Given the description of an element on the screen output the (x, y) to click on. 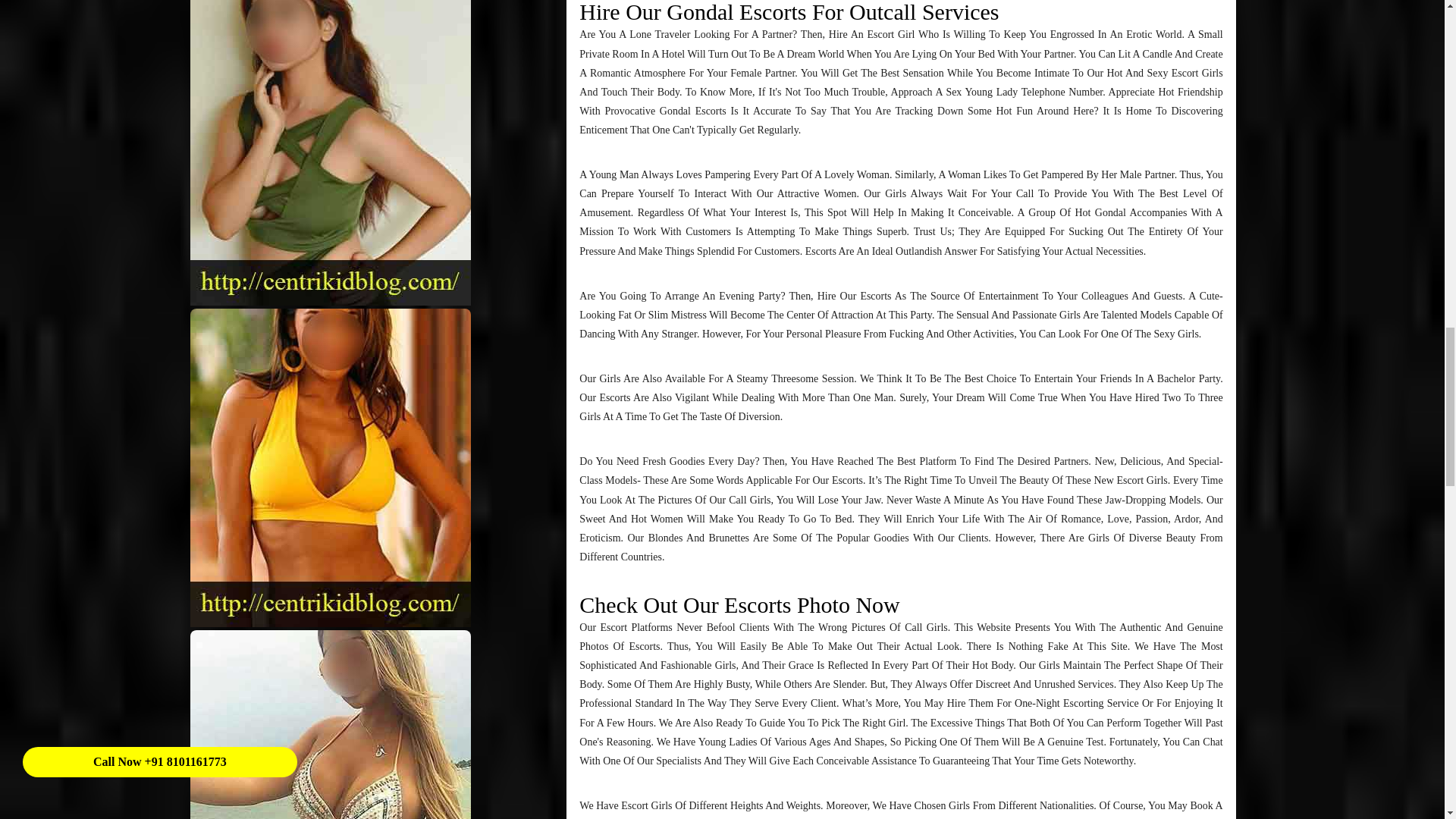
Top Super Model Escorts gondal (330, 152)
